Given the description of an element on the screen output the (x, y) to click on. 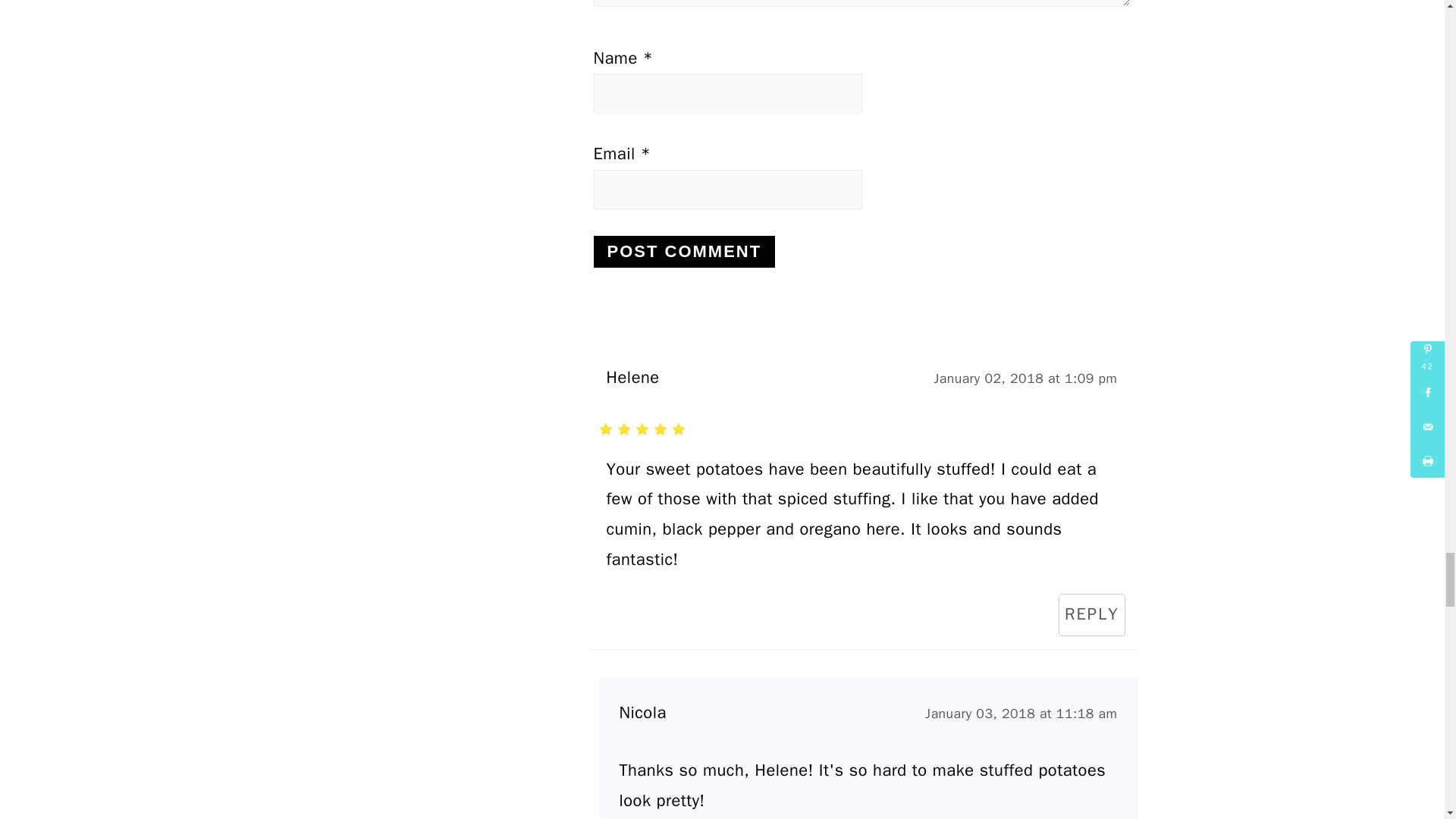
Post Comment (683, 251)
